Given the description of an element on the screen output the (x, y) to click on. 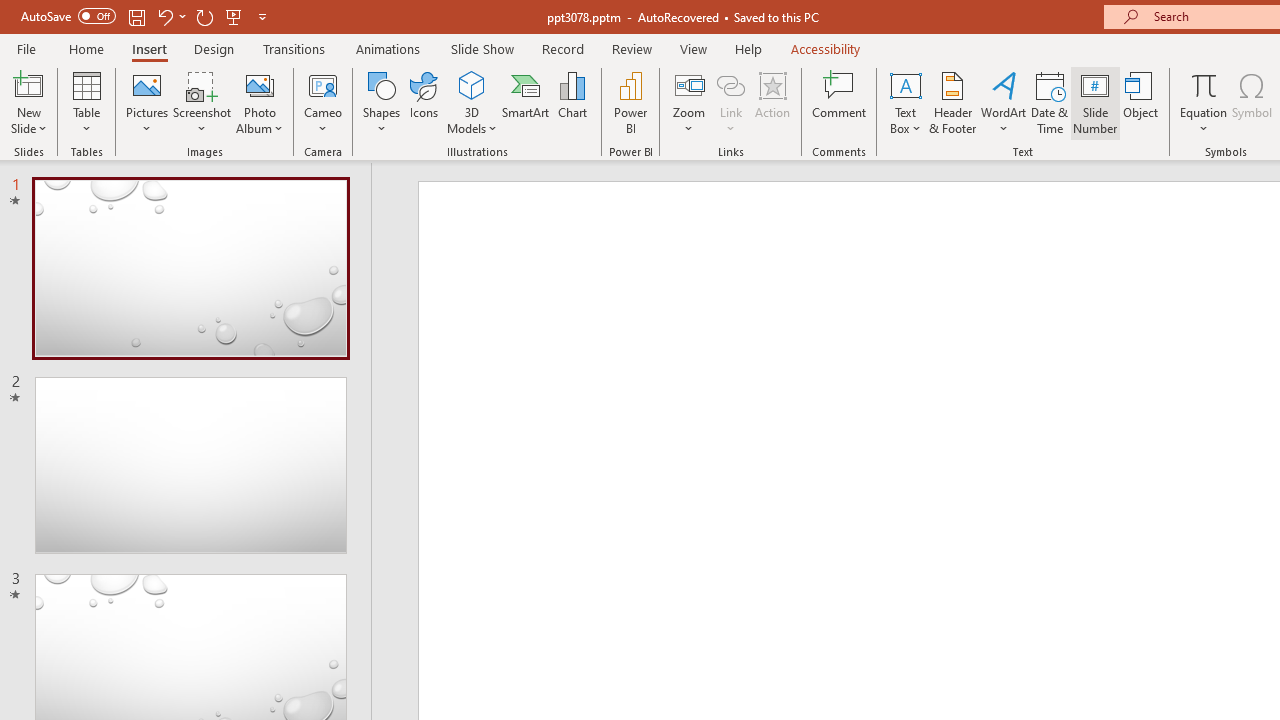
SmartArt... (525, 102)
Chart... (572, 102)
Icons (424, 102)
Slide Number (1095, 102)
Symbol... (1252, 102)
